Given the description of an element on the screen output the (x, y) to click on. 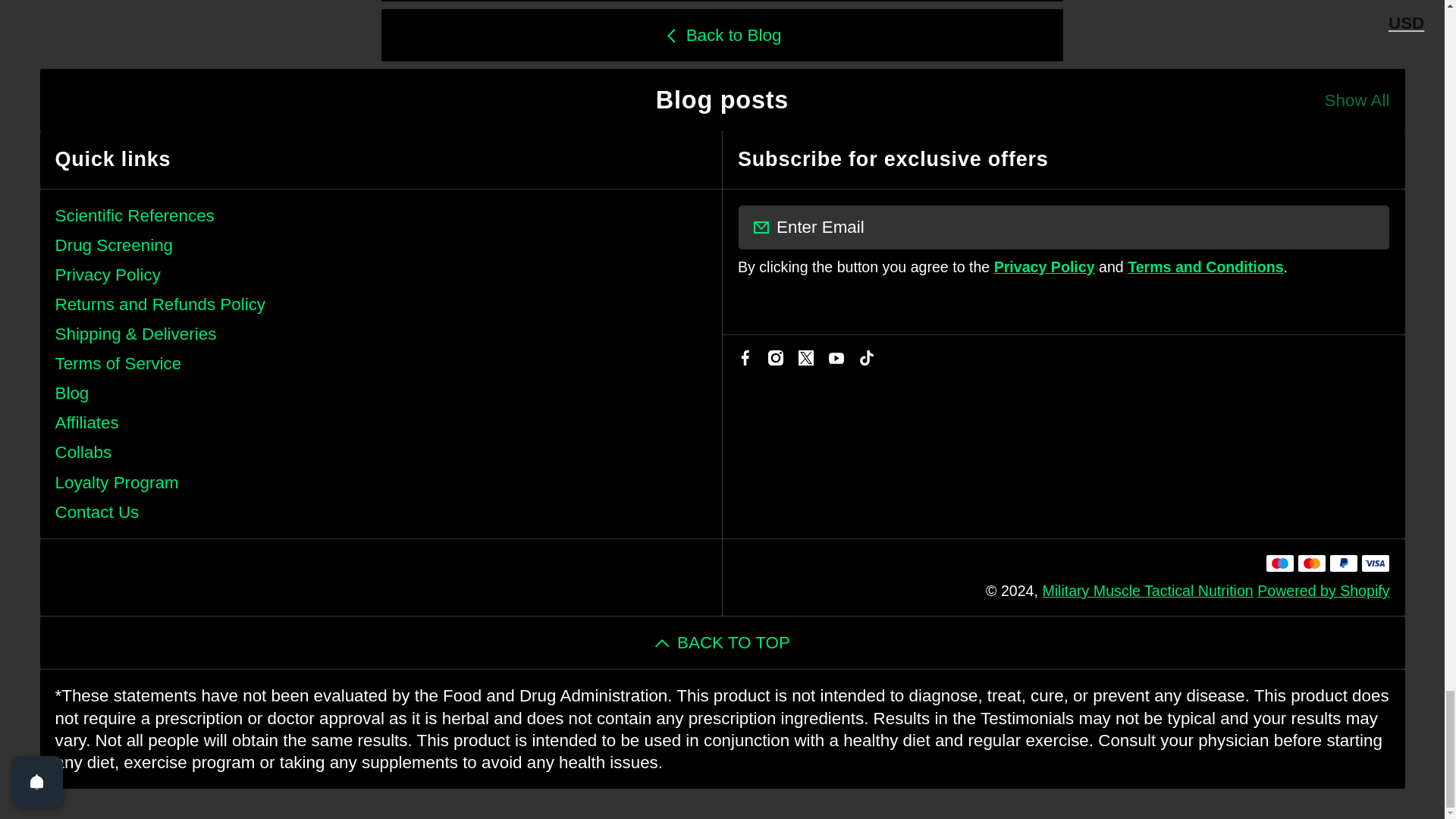
PayPal (1341, 563)
Maestro (1279, 563)
Visa (1374, 563)
Mastercard (1310, 563)
